Given the description of an element on the screen output the (x, y) to click on. 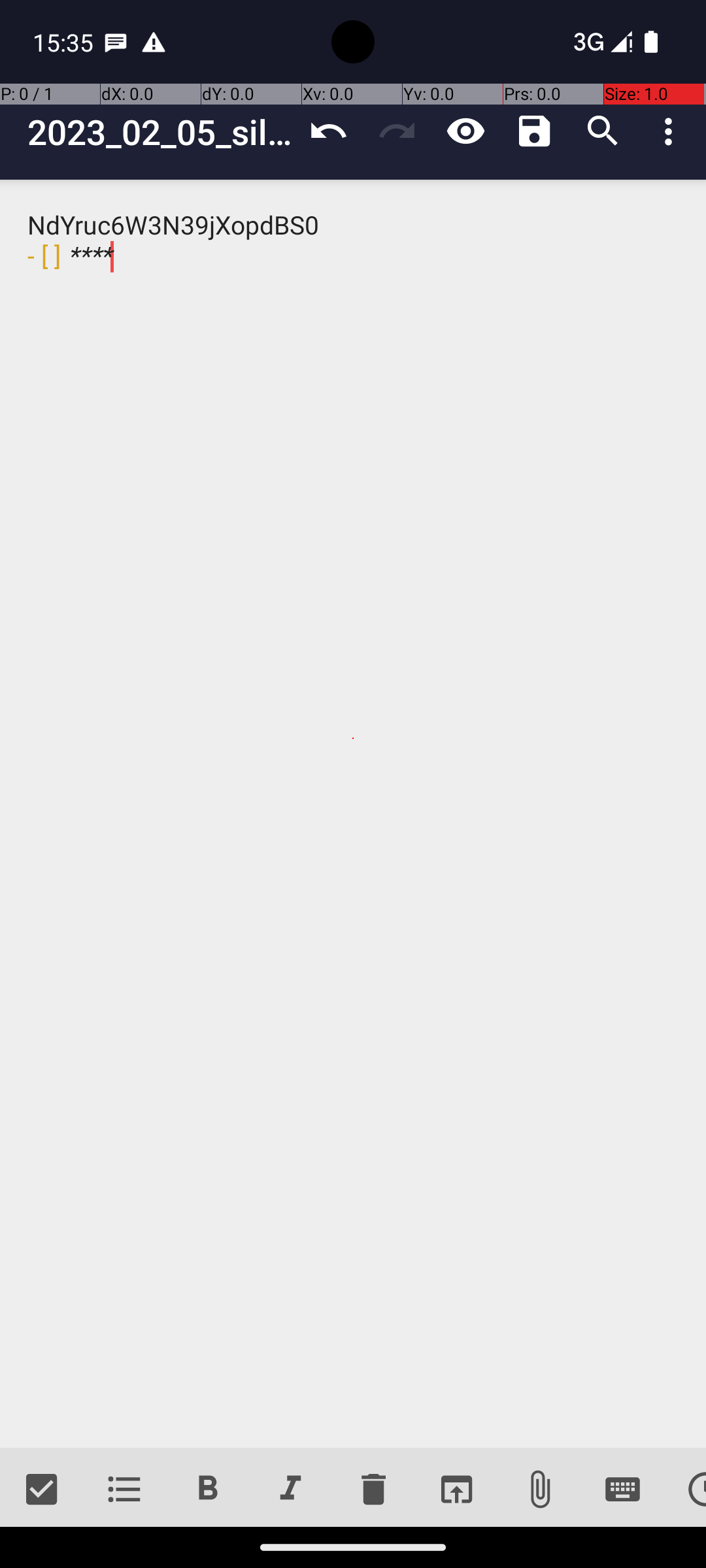
2023_02_05_silly_sun Element type: android.widget.TextView (160, 131)
NdYruc6W3N39jXopdBS0
- [ ] **** Element type: android.widget.EditText (353, 813)
